Given the description of an element on the screen output the (x, y) to click on. 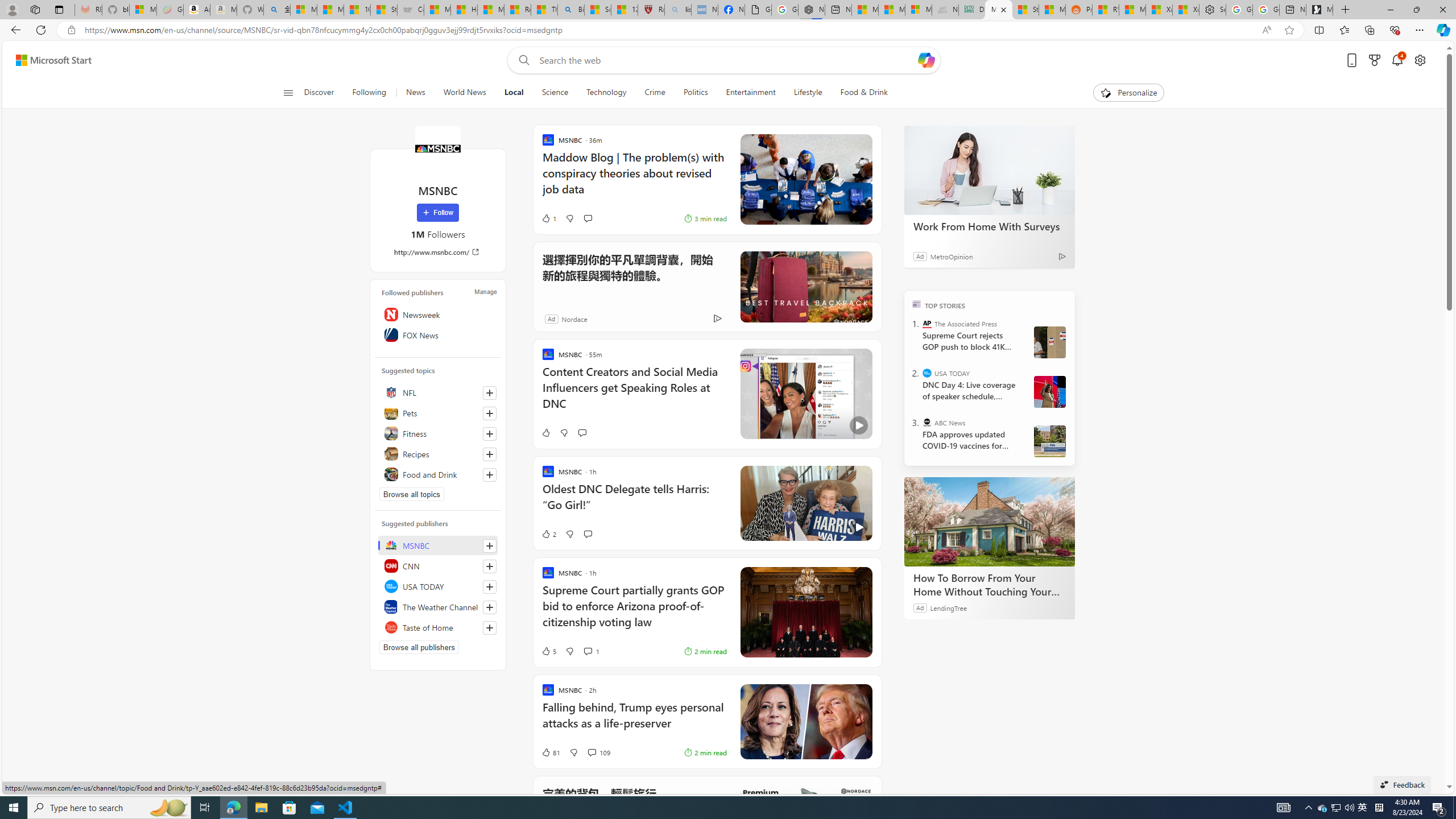
Browse all topics (412, 494)
Follow this topic (489, 474)
Google Analytics Opt-out Browser Add-on Download Page (757, 9)
Food & Drink (859, 92)
Food & Drink (864, 92)
Like (544, 432)
Work From Home With Surveys (989, 169)
